Given the description of an element on the screen output the (x, y) to click on. 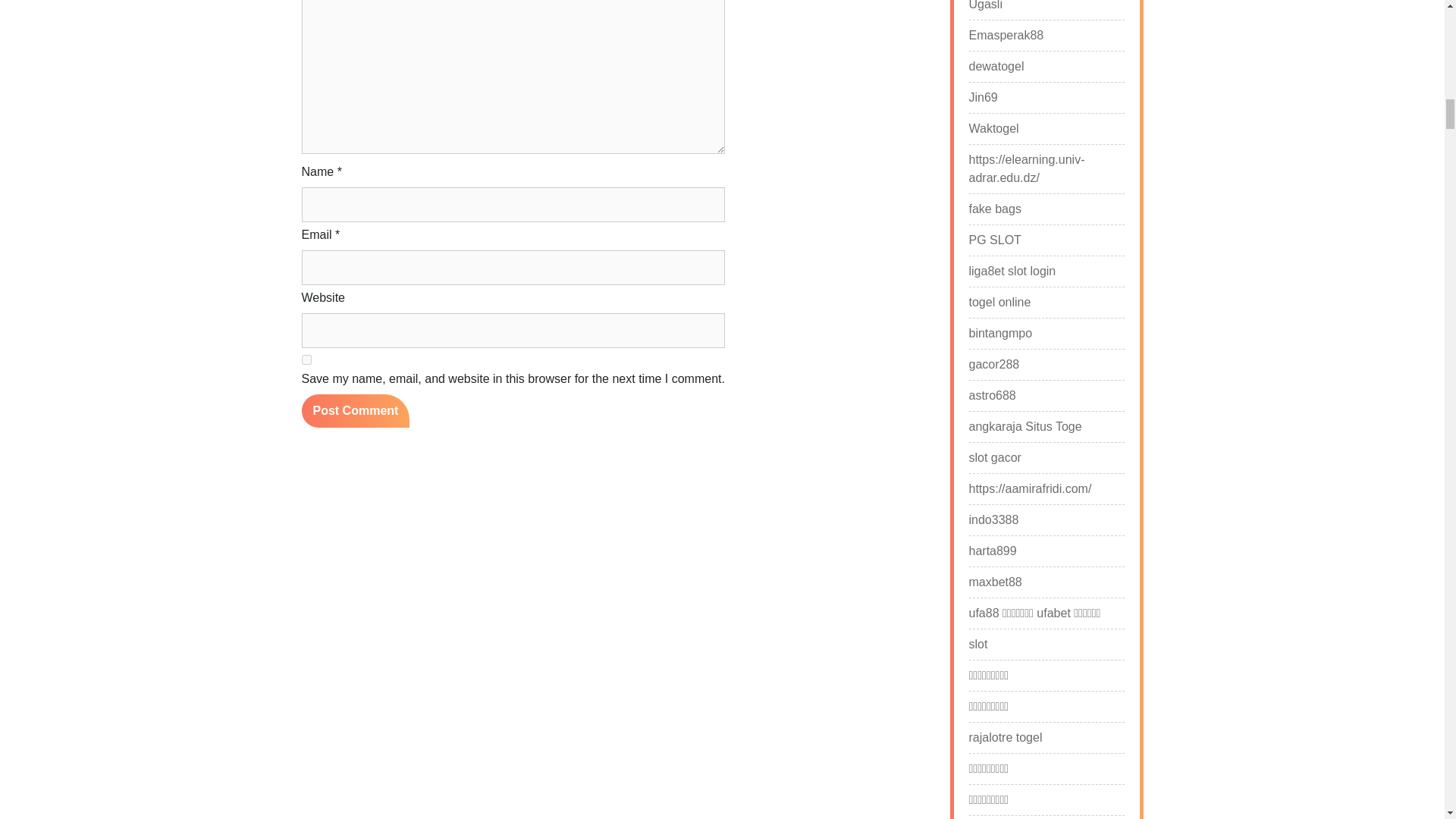
yes (306, 359)
Post Comment (355, 410)
Post Comment (355, 410)
